Given the description of an element on the screen output the (x, y) to click on. 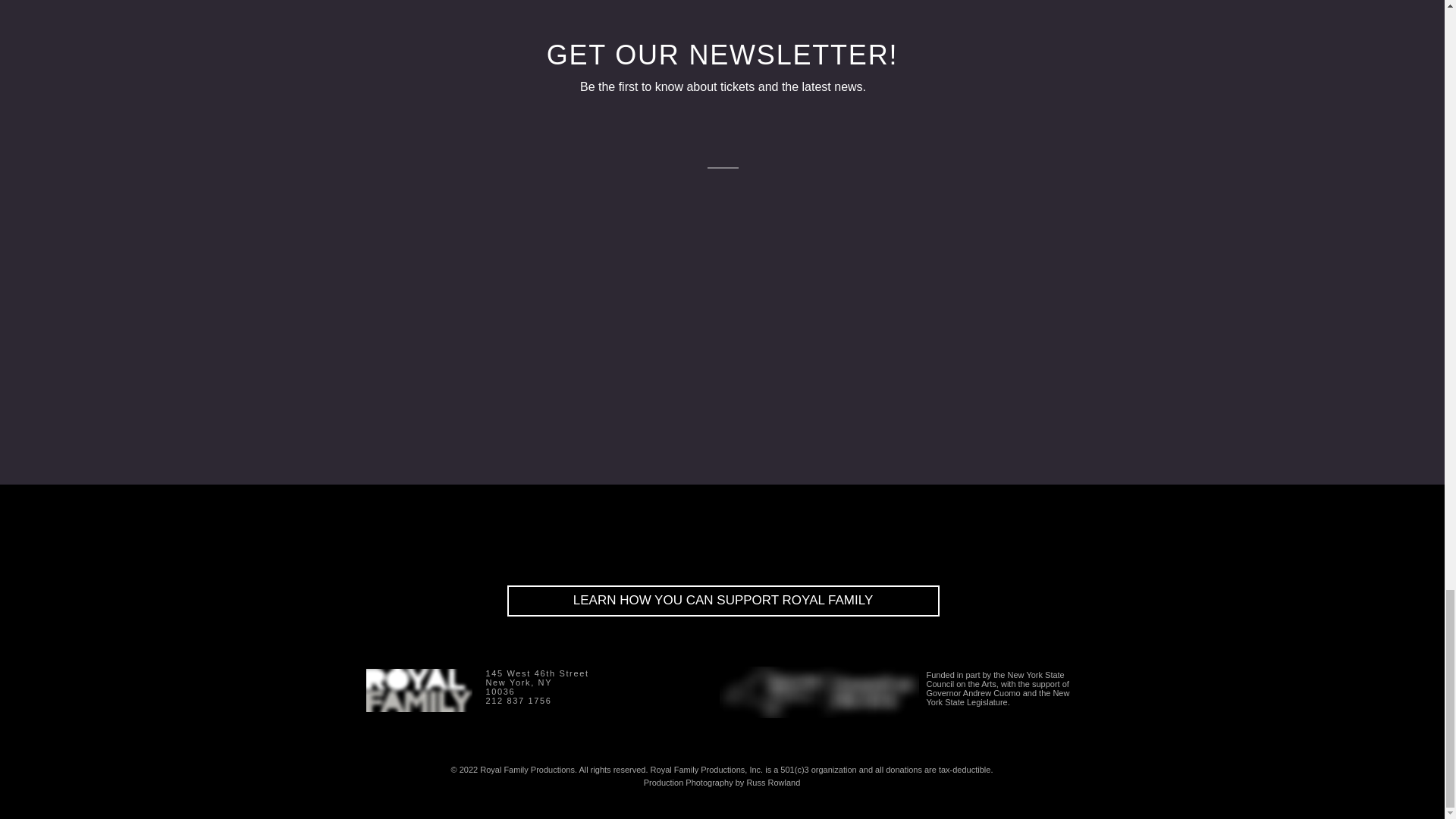
LEARN HOW YOU CAN SUPPORT ROYAL FAMILY (722, 600)
